Given the description of an element on the screen output the (x, y) to click on. 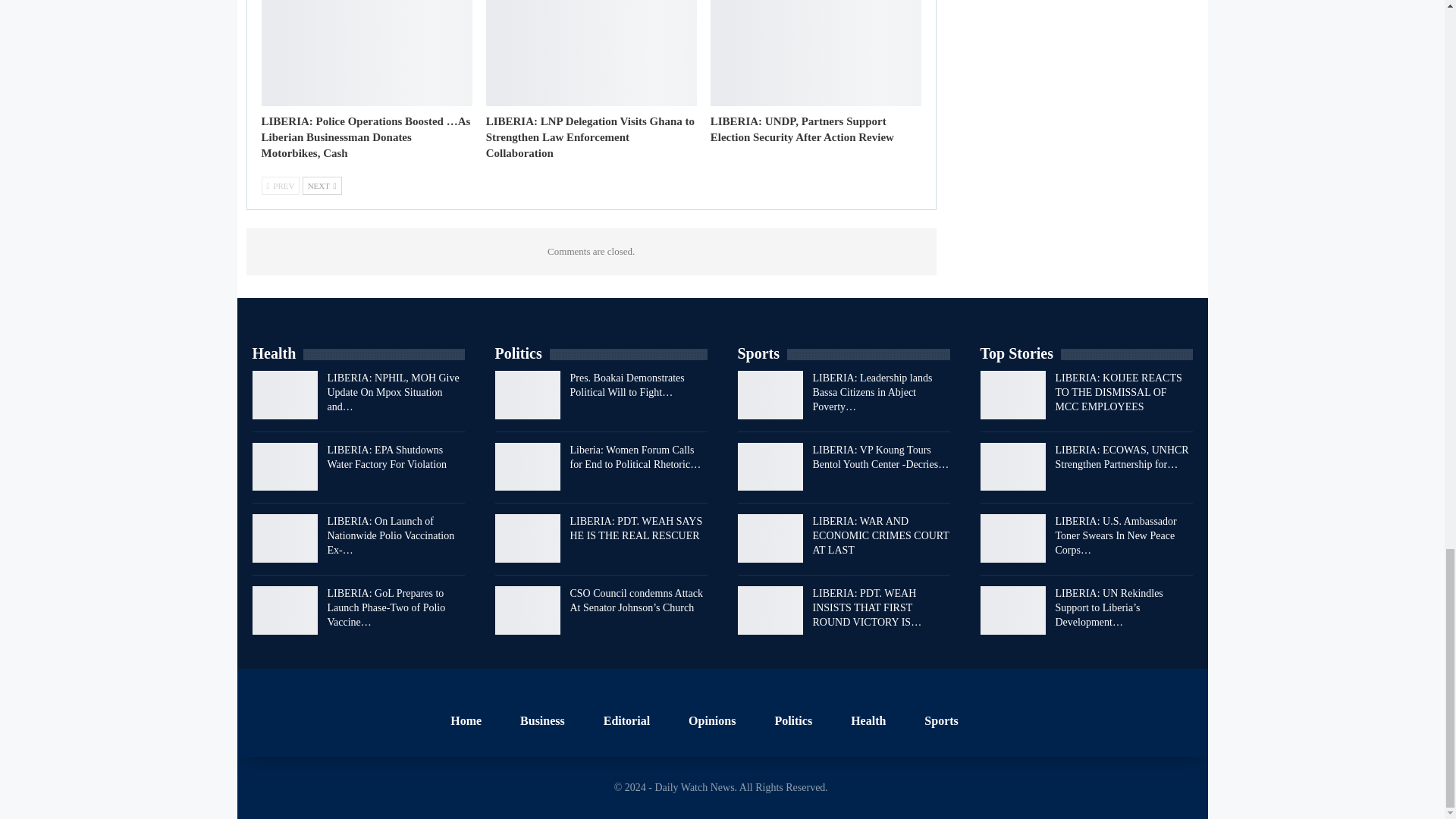
Previous (279, 185)
Next (322, 185)
